Given the description of an element on the screen output the (x, y) to click on. 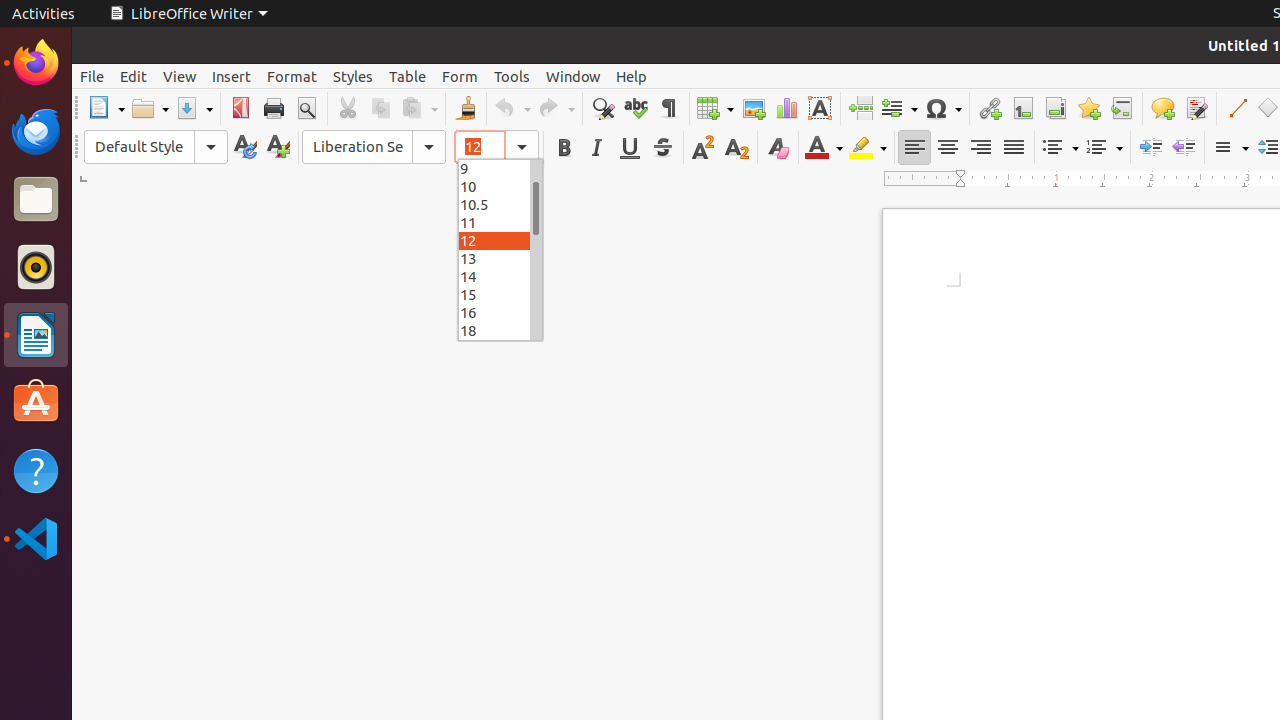
Print Preview Element type: toggle-button (306, 108)
New Element type: push-button (277, 147)
Bookmark Element type: push-button (1088, 108)
File Element type: menu (92, 76)
Image Element type: push-button (753, 108)
